Given the description of an element on the screen output the (x, y) to click on. 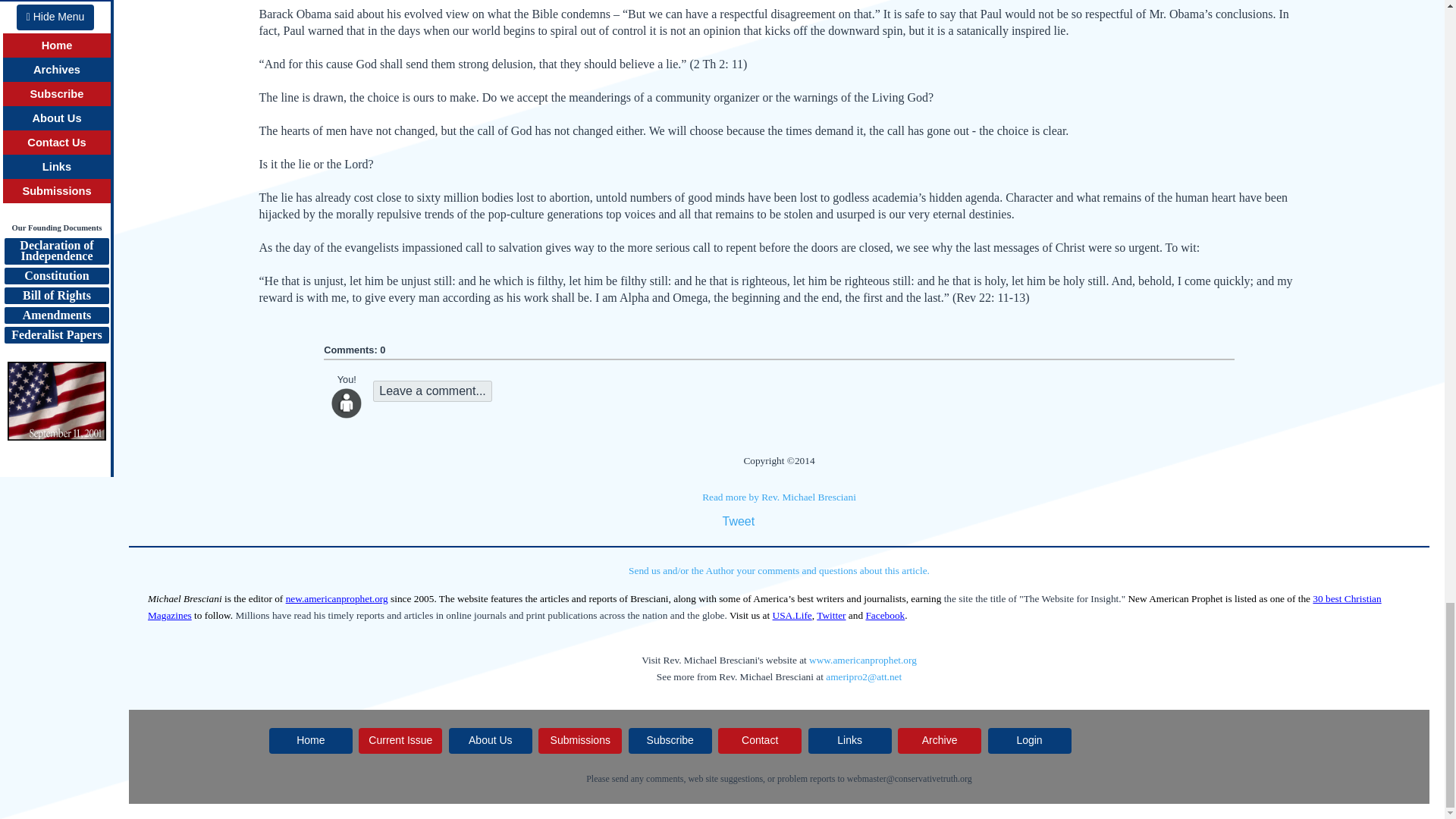
Twitter (830, 614)
30 best Christian Magazines (764, 606)
Current Issue (400, 740)
About Us (490, 740)
www.americanprophet.org (863, 659)
Read more by Rev. Michael Bresciani (778, 496)
Subscribe (669, 740)
USA.Life (792, 614)
Submissions (579, 740)
Home (310, 740)
